Given the description of an element on the screen output the (x, y) to click on. 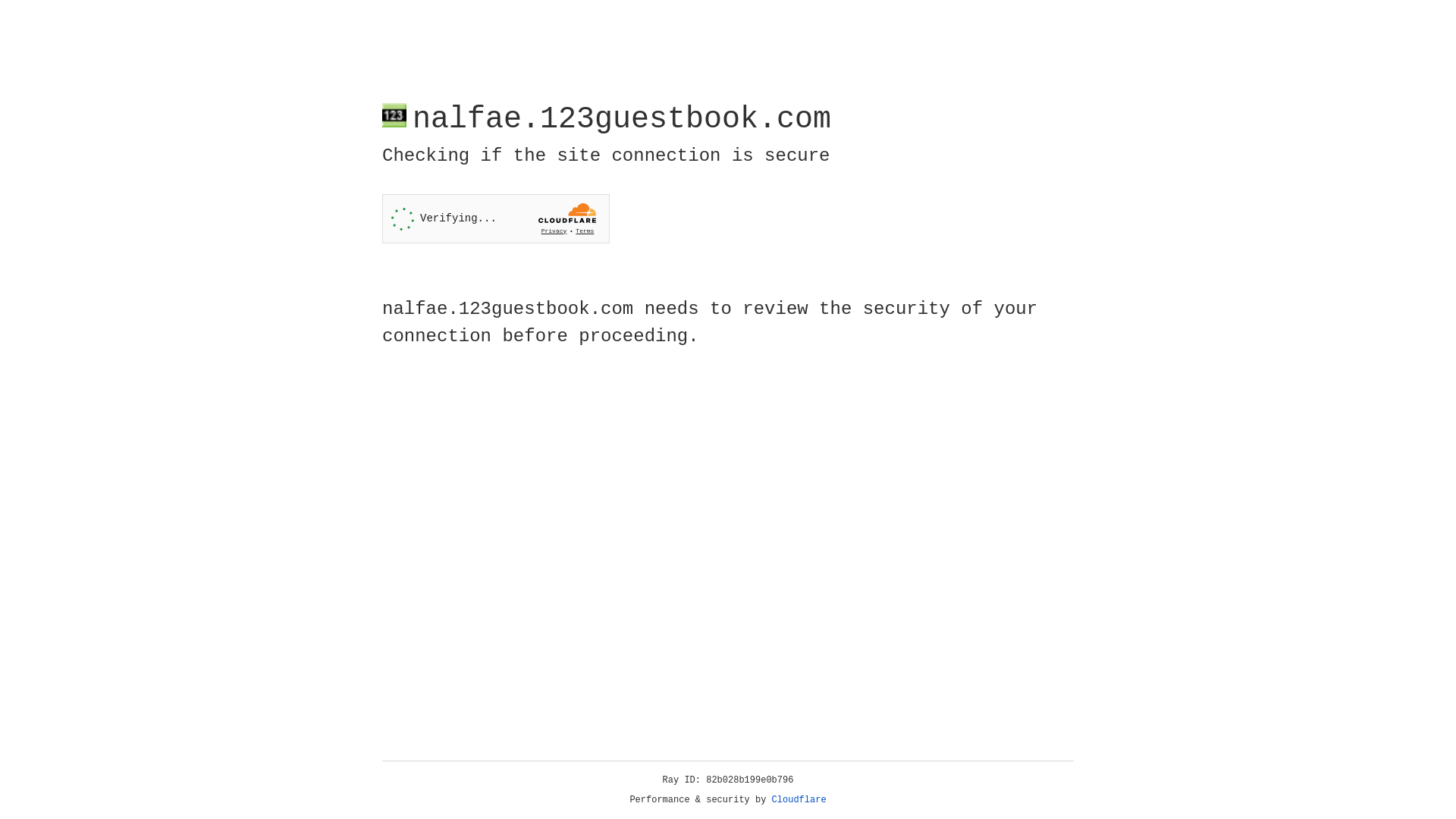
Widget containing a Cloudflare security challenge Element type: hover (495, 218)
Cloudflare Element type: text (798, 799)
